Given the description of an element on the screen output the (x, y) to click on. 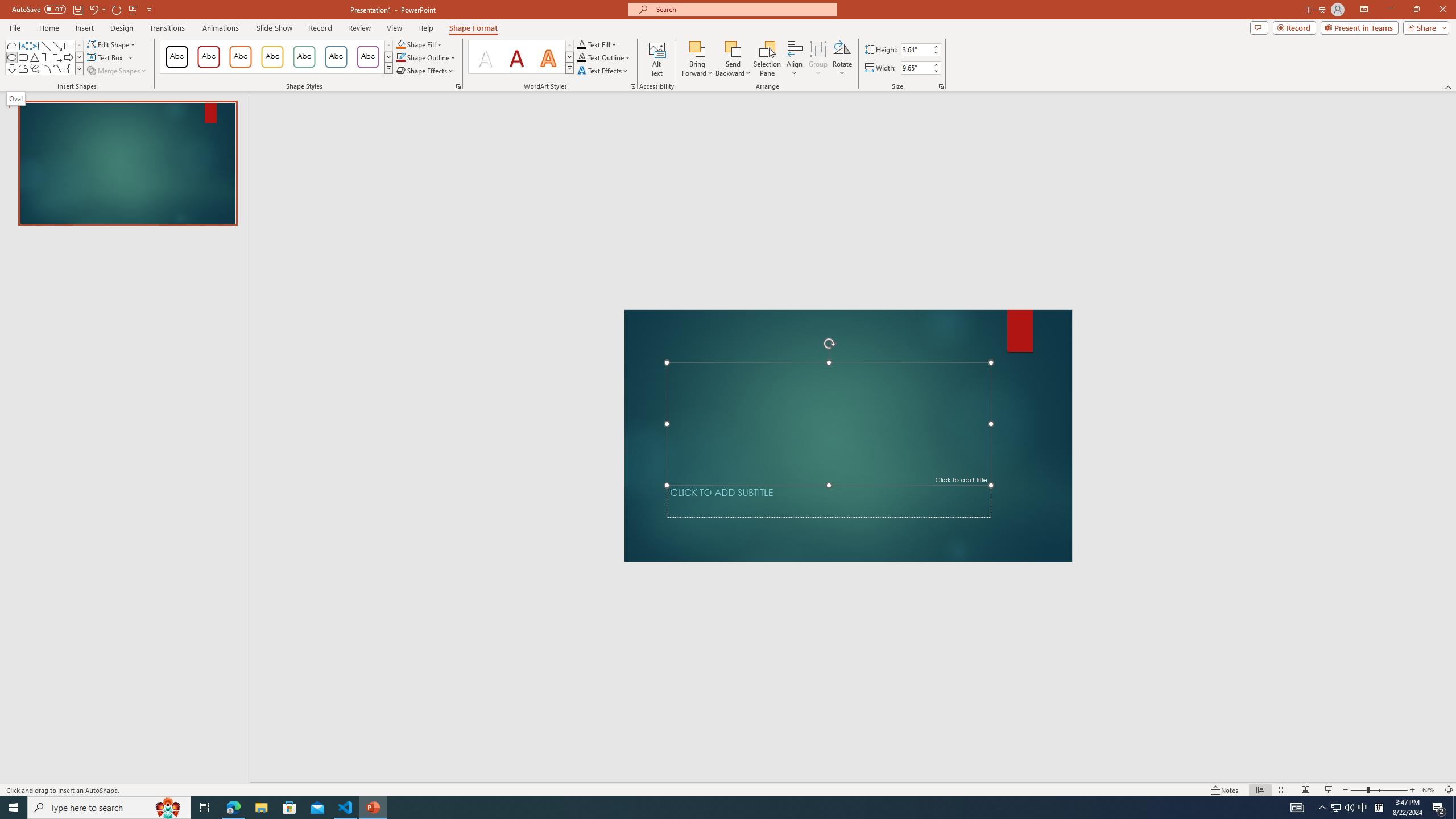
Shape Effects (425, 69)
Class: MsoCommandBar (728, 789)
Subtitle TextBox (828, 500)
Zoom 62% (1430, 790)
Connector: Elbow (46, 57)
Colored Outline - Orange, Accent 2 (240, 56)
Connector: Elbow Arrow (57, 57)
Text Fill RGB(0, 0, 0) (581, 44)
Merge Shapes (117, 69)
AutomationID: TextStylesGallery (521, 56)
